Given the description of an element on the screen output the (x, y) to click on. 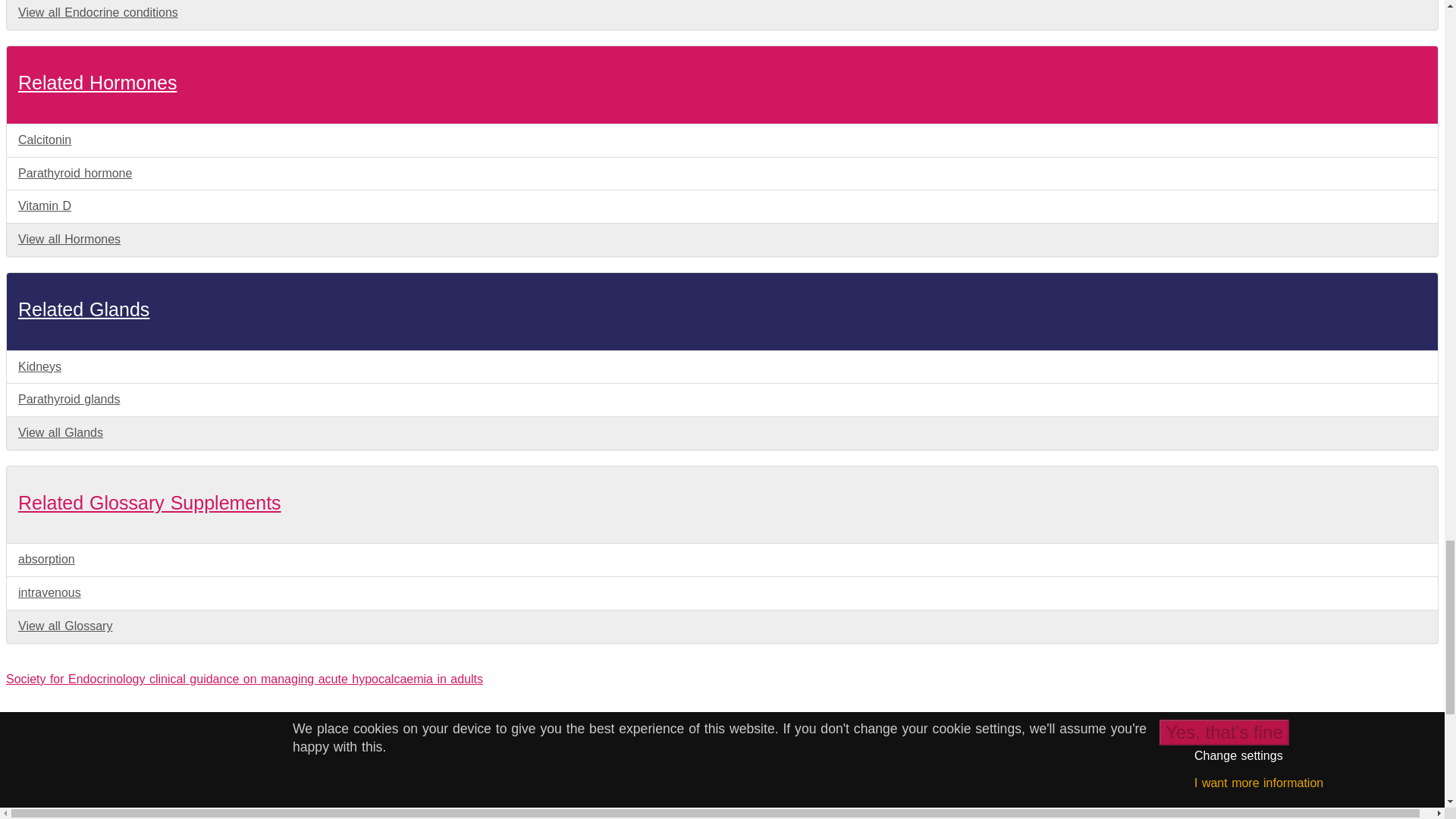
SfE clinical guideance on acute hypocalcaemia (244, 678)
